Given the description of an element on the screen output the (x, y) to click on. 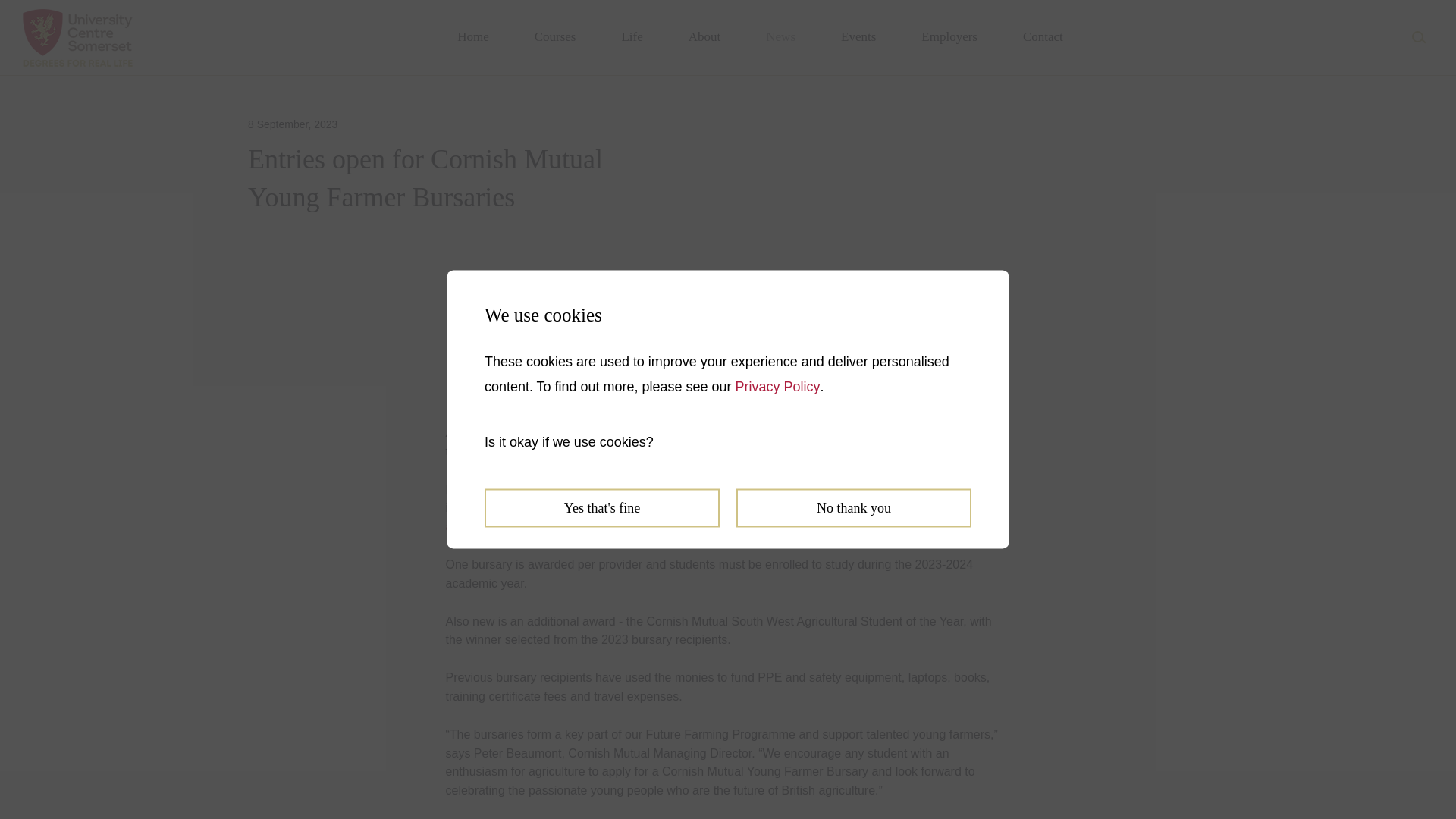
Yes that's fine (601, 507)
Courses (555, 37)
No thank you (853, 507)
Contact (1042, 37)
Privacy Policy (778, 385)
Employers (948, 37)
